Given the description of an element on the screen output the (x, y) to click on. 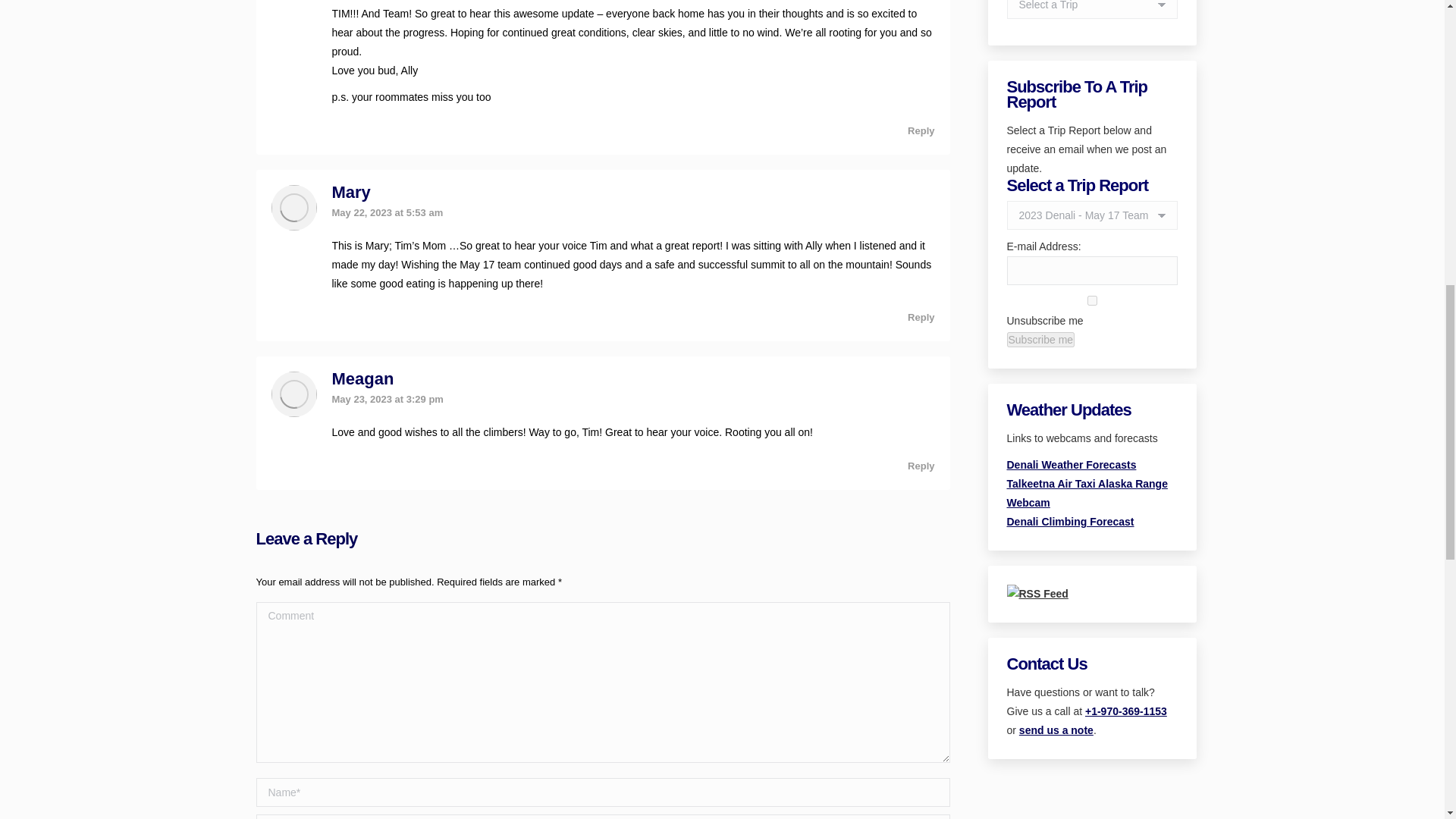
1 (1092, 300)
Subscribe to RSS Feed (1037, 593)
